Given the description of an element on the screen output the (x, y) to click on. 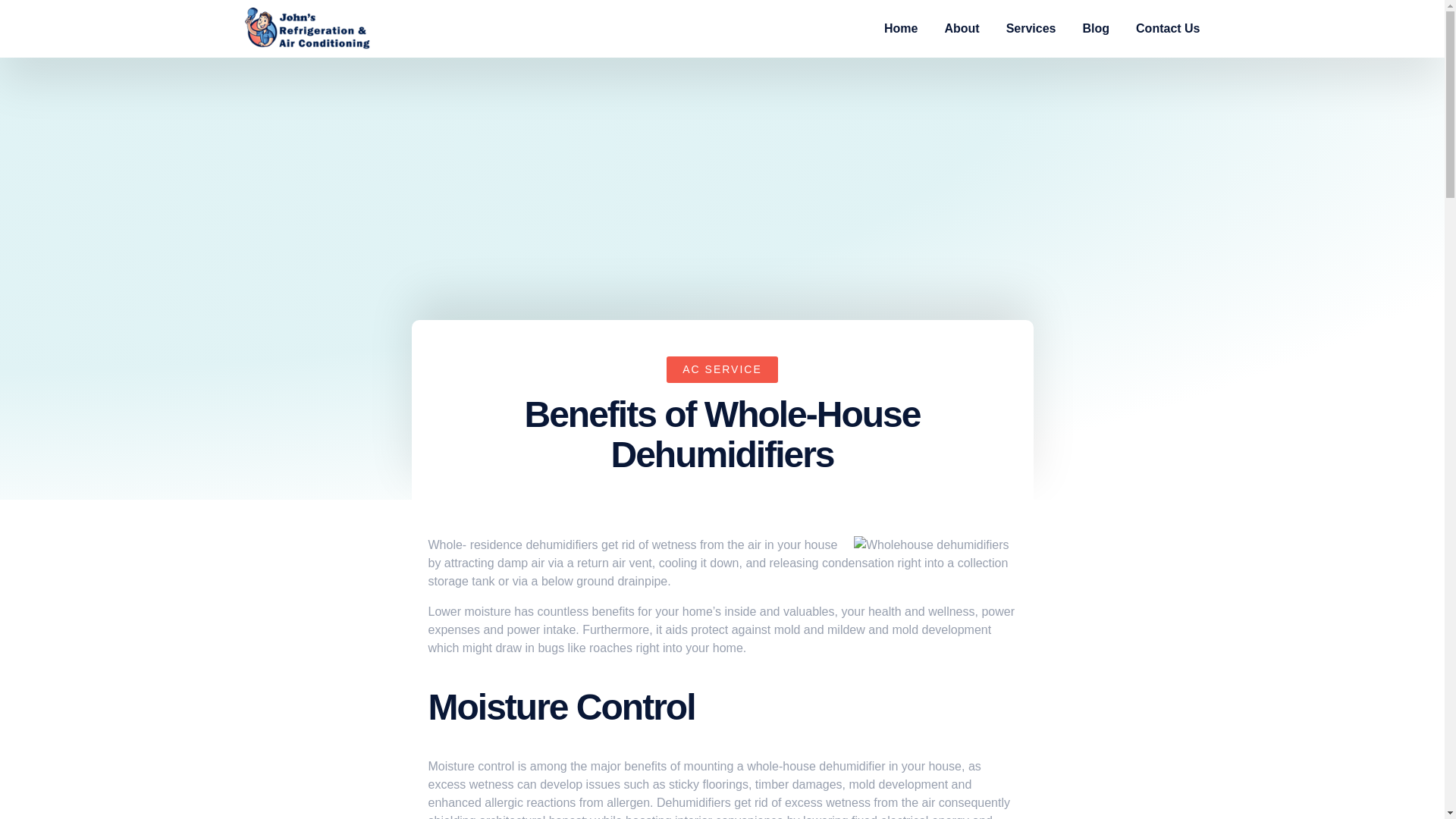
Services (1031, 28)
Contact Us (1167, 28)
AC SERVICE (721, 369)
About (960, 28)
